Given the description of an element on the screen output the (x, y) to click on. 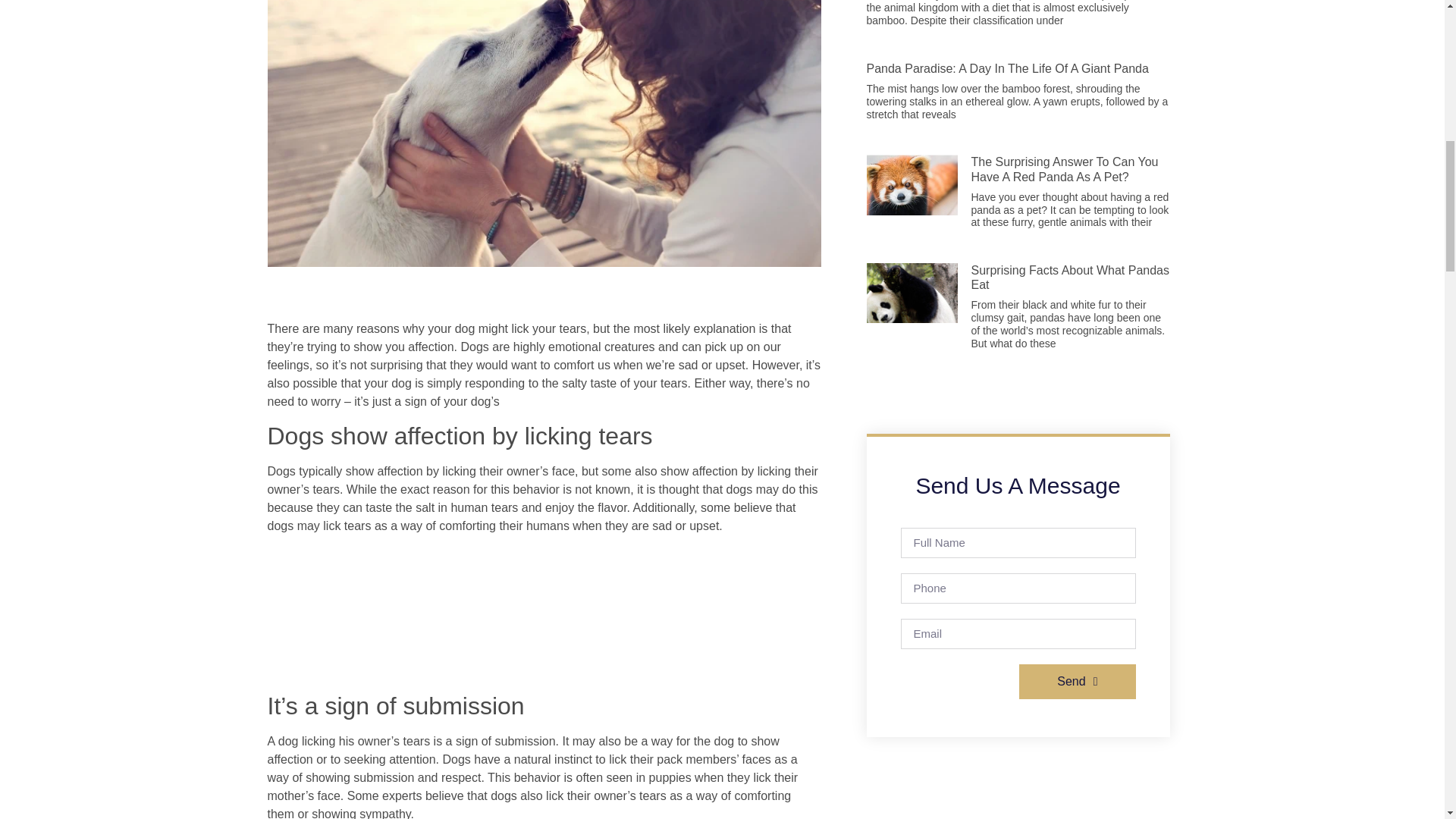
The Surprising Answer To Can You Have A Red Panda As A Pet? (1064, 168)
Advertisement (543, 616)
Surprising Facts About What Pandas Eat (1070, 277)
Send (1077, 681)
Panda Paradise: A Day In The Life Of A Giant Panda (1007, 68)
